Given the description of an element on the screen output the (x, y) to click on. 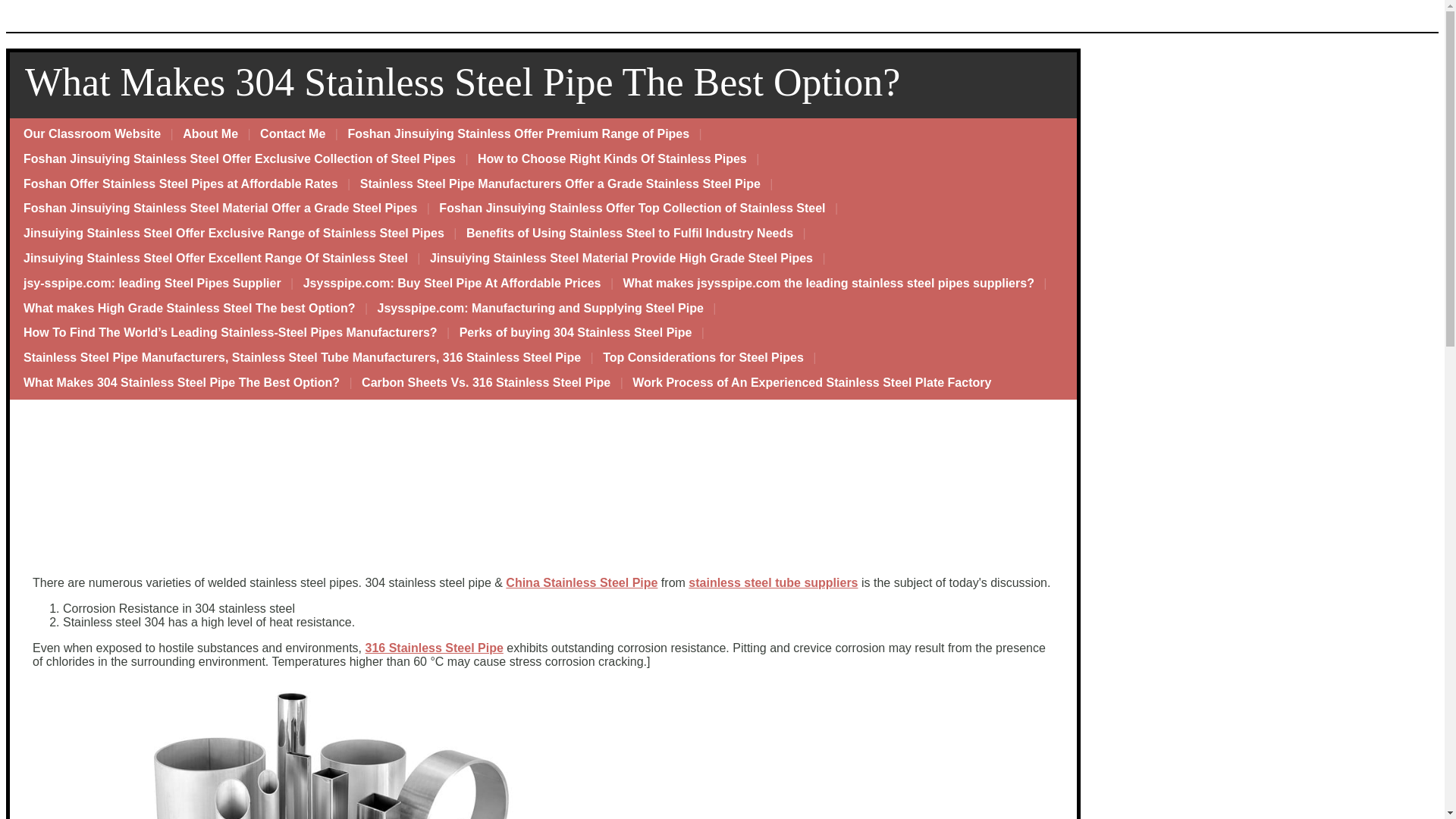
How to Choose Right Kinds Of Stainless Pipes (611, 159)
Work Process of An Experienced Stainless Steel Plate Factory (811, 383)
Our Classroom Website (92, 134)
Jsysspipe.com: Manufacturing and Supplying Steel Pipe (540, 308)
Carbon Sheets Vs. 316 Stainless Steel Pipe (485, 383)
Contact Me (292, 134)
Benefits of Using Stainless Steel to Fulfil Industry Needs (629, 233)
Foshan Offer Stainless Steel Pipes at Affordable Rates (180, 184)
China Stainless Steel Pipe (581, 582)
